Given the description of an element on the screen output the (x, y) to click on. 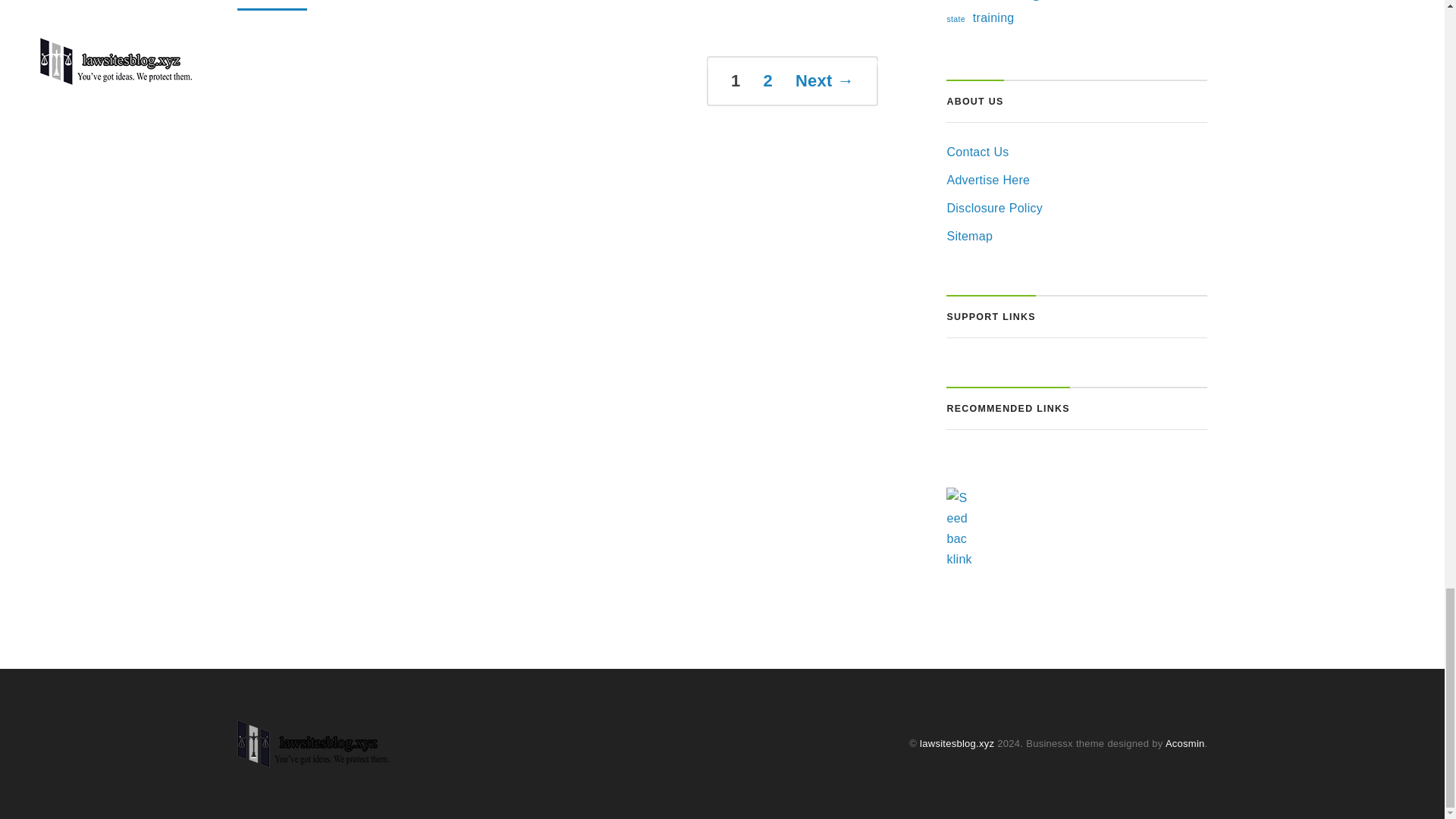
Blog post: Top 5 Llm Applications In Singapore 2021 (556, 4)
